Given the description of an element on the screen output the (x, y) to click on. 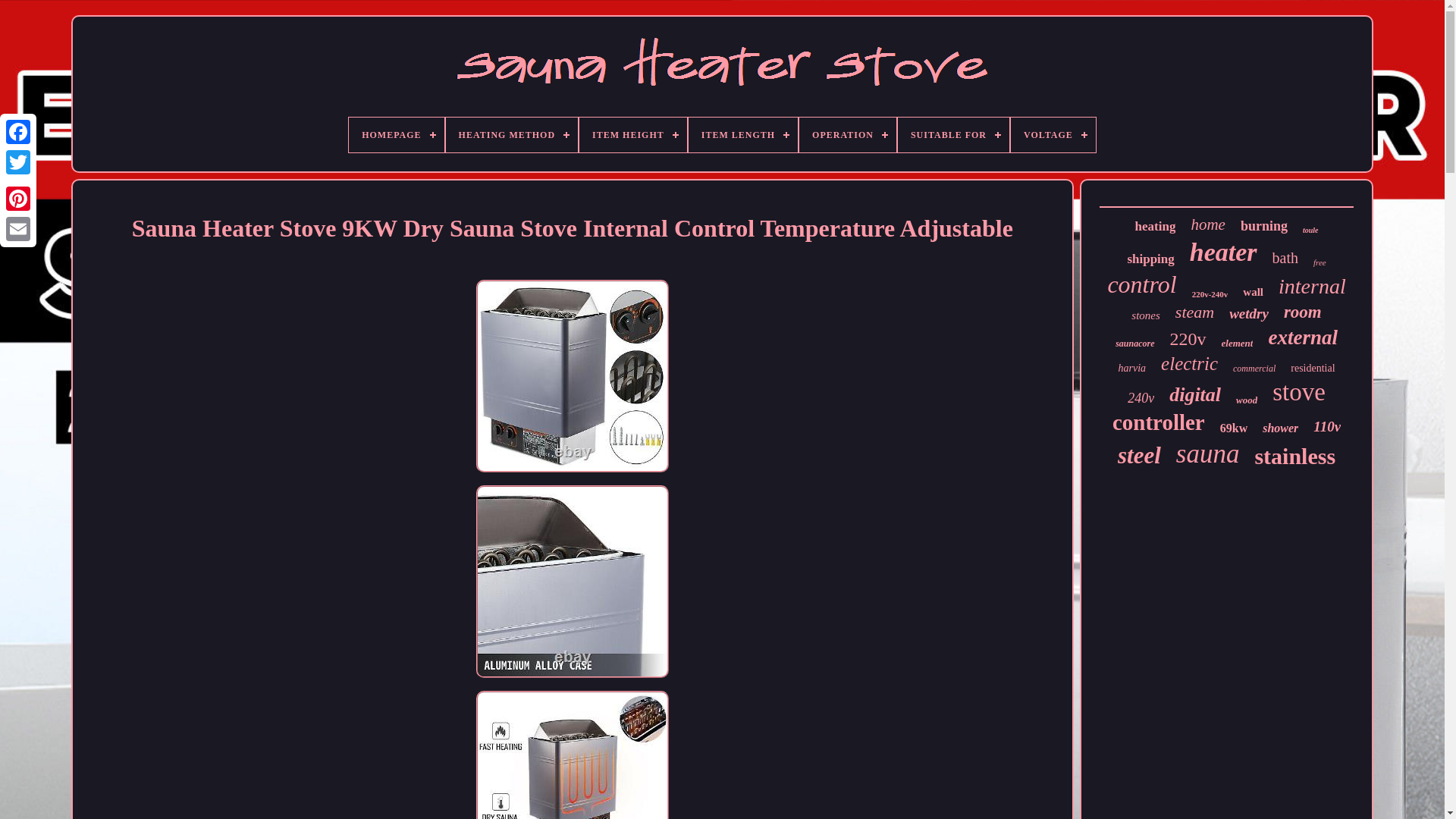
HOMEPAGE (396, 134)
HEATING METHOD (511, 134)
ITEM LENGTH (742, 134)
ITEM HEIGHT (633, 134)
